Given the description of an element on the screen output the (x, y) to click on. 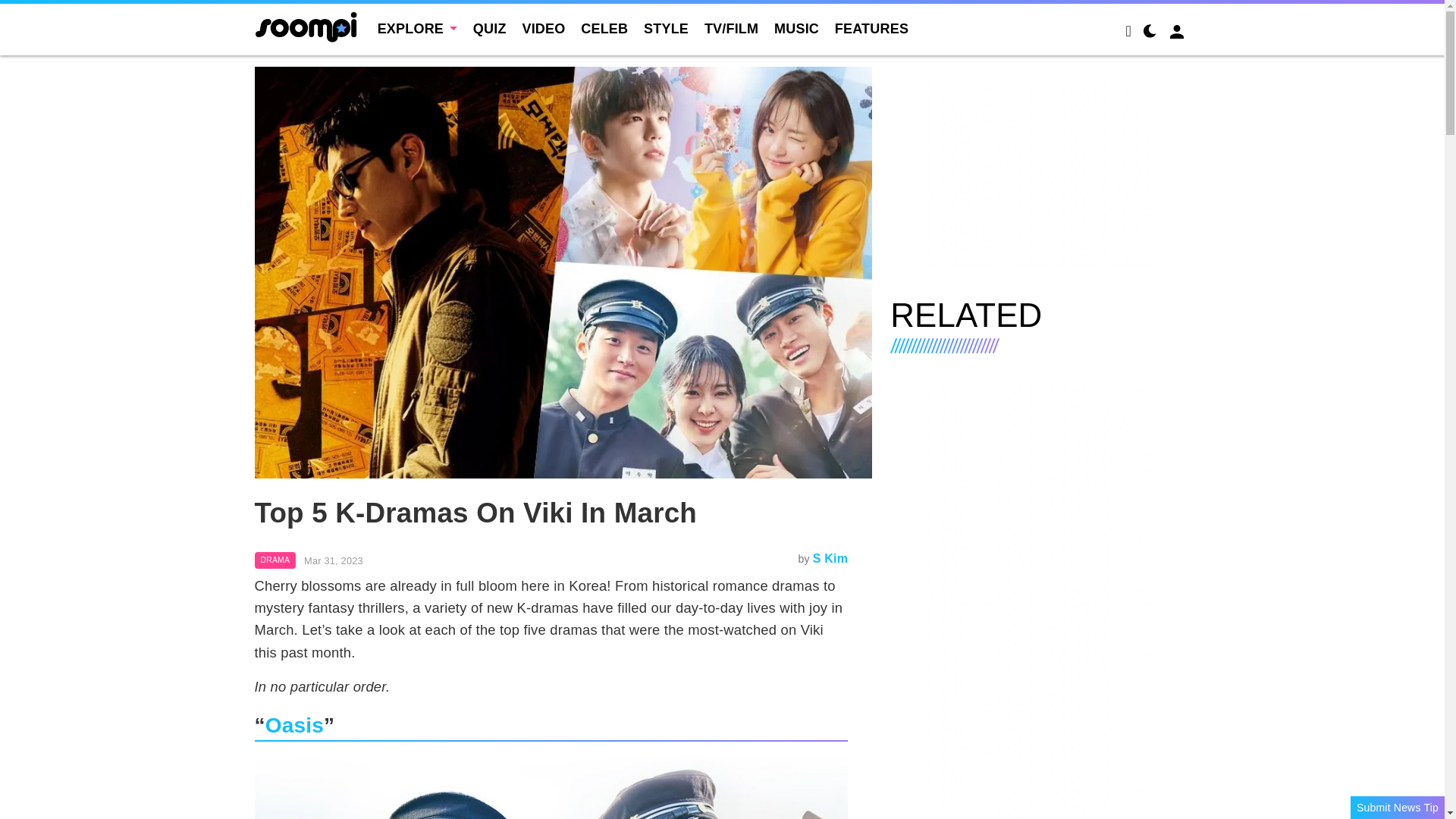
MUSIC (796, 28)
3rd party ad content (1040, 173)
Articles by S Kim (829, 558)
QUIZ (489, 28)
S Kim (829, 558)
DRAMA (275, 560)
Drama (275, 560)
STYLE (665, 28)
Oasis (293, 725)
FEATURES (871, 28)
